Given the description of an element on the screen output the (x, y) to click on. 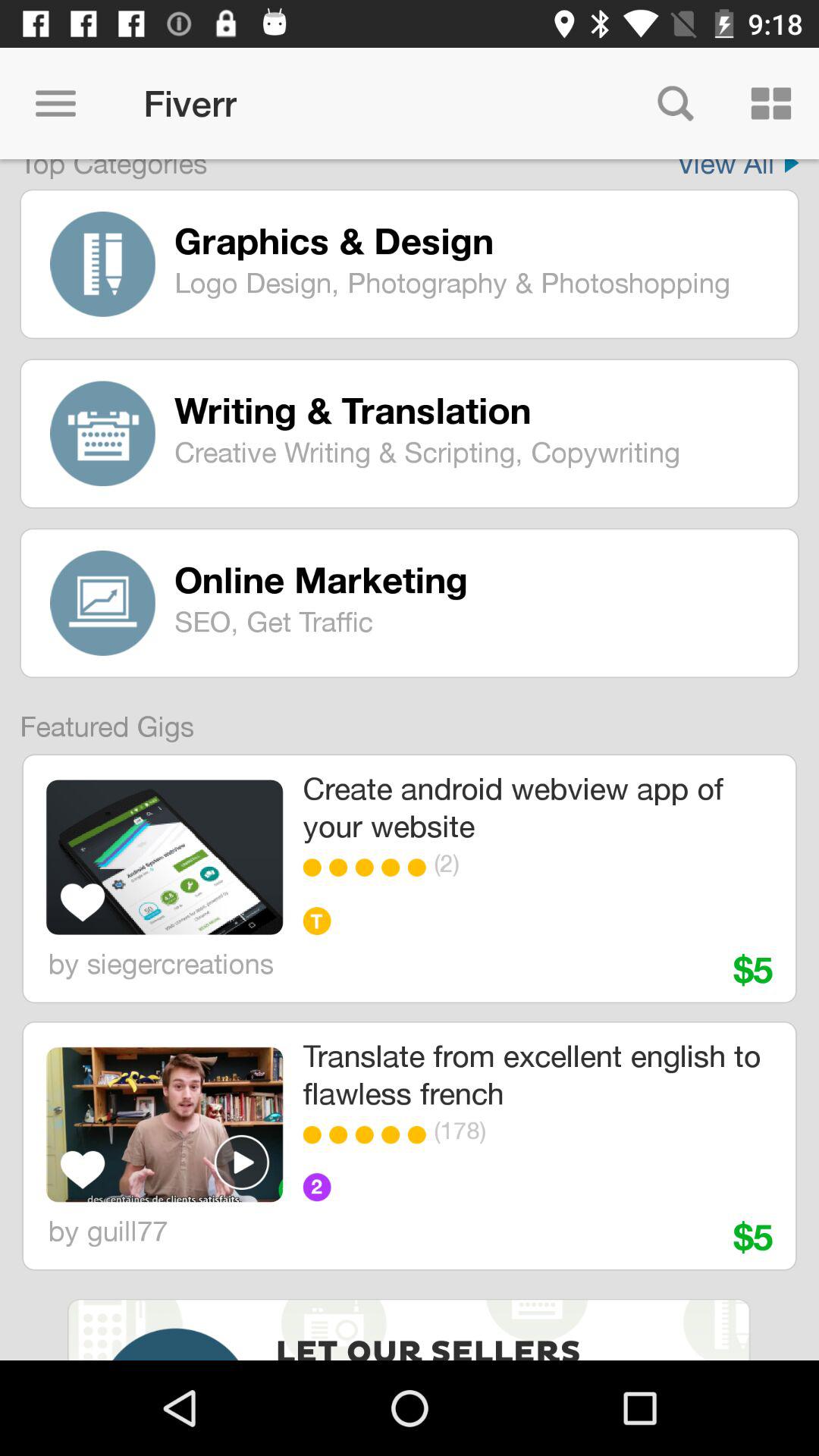
turn on the logo design photography (475, 282)
